Given the description of an element on the screen output the (x, y) to click on. 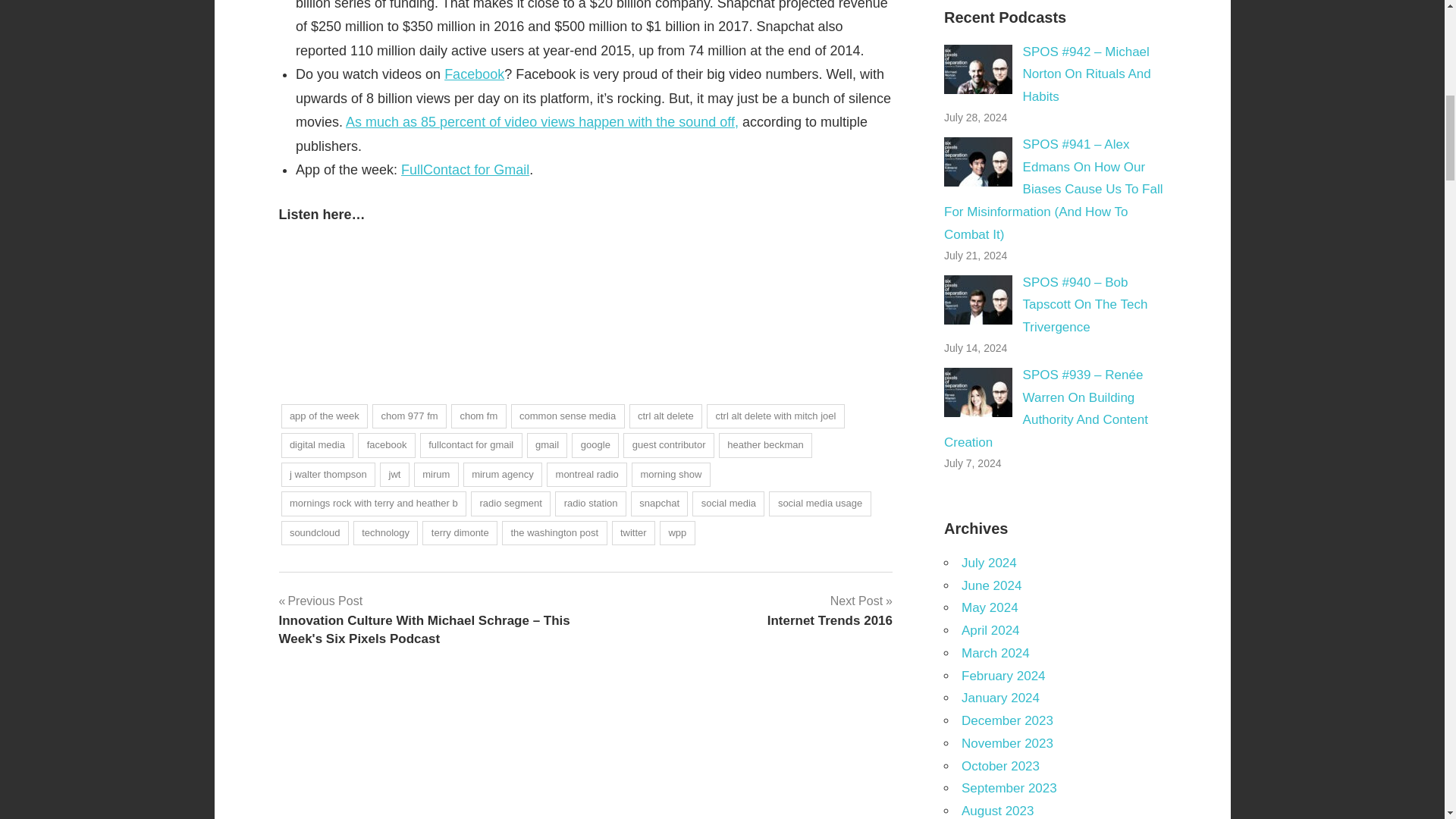
digital media (317, 445)
fullcontact for gmail (471, 445)
chom fm (478, 416)
Facebook (473, 73)
ctrl alt delete with mitch joel (775, 416)
ctrl alt delete (664, 416)
facebook (386, 445)
FullContact for Gmail (465, 169)
common sense media (567, 416)
chom 977 fm (409, 416)
app of the week (324, 416)
